Given the description of an element on the screen output the (x, y) to click on. 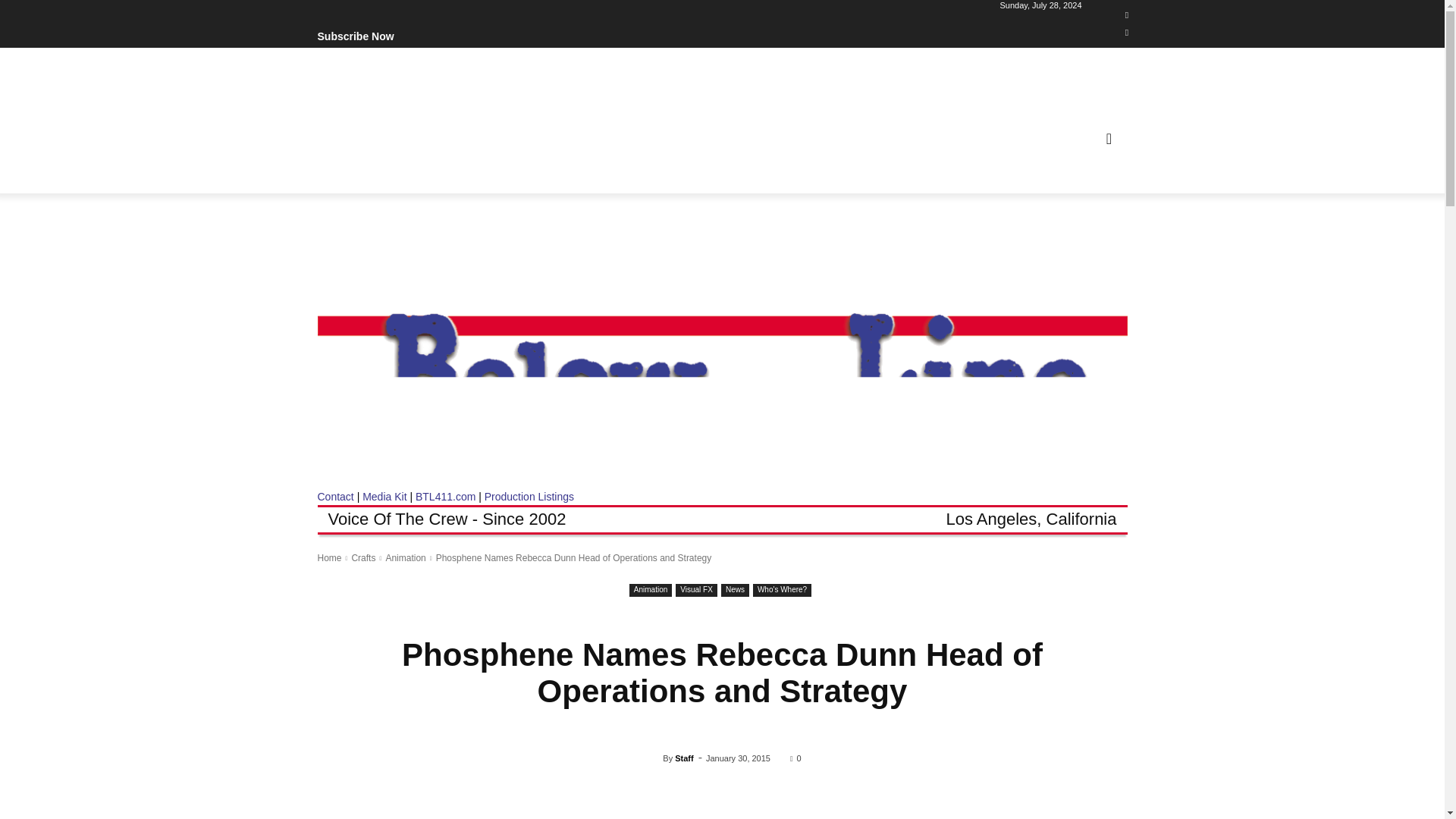
Twitter (1126, 32)
View all posts in Animation (405, 557)
Staff (652, 758)
Facebook (1126, 15)
View all posts in Crafts (362, 557)
